Given the description of an element on the screen output the (x, y) to click on. 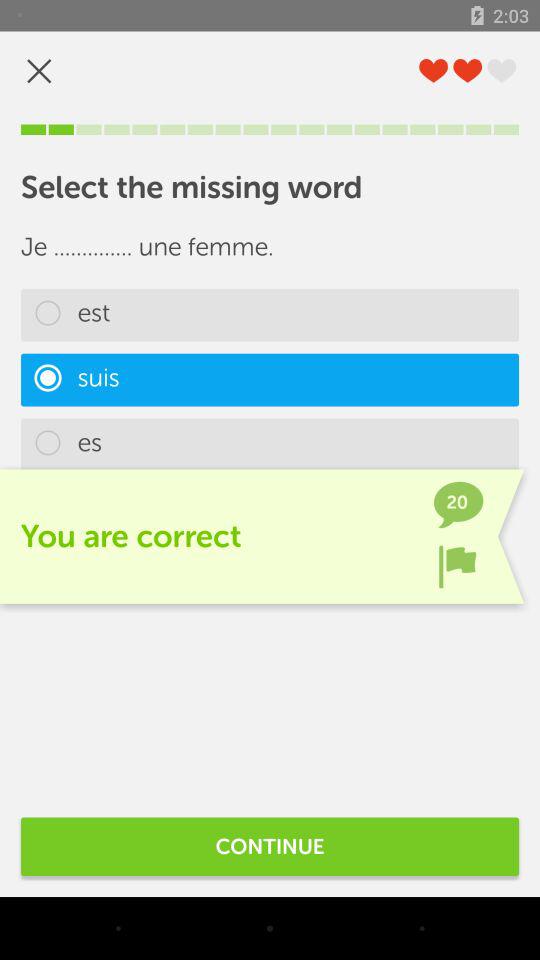
turn on icon below the suis (270, 444)
